Given the description of an element on the screen output the (x, y) to click on. 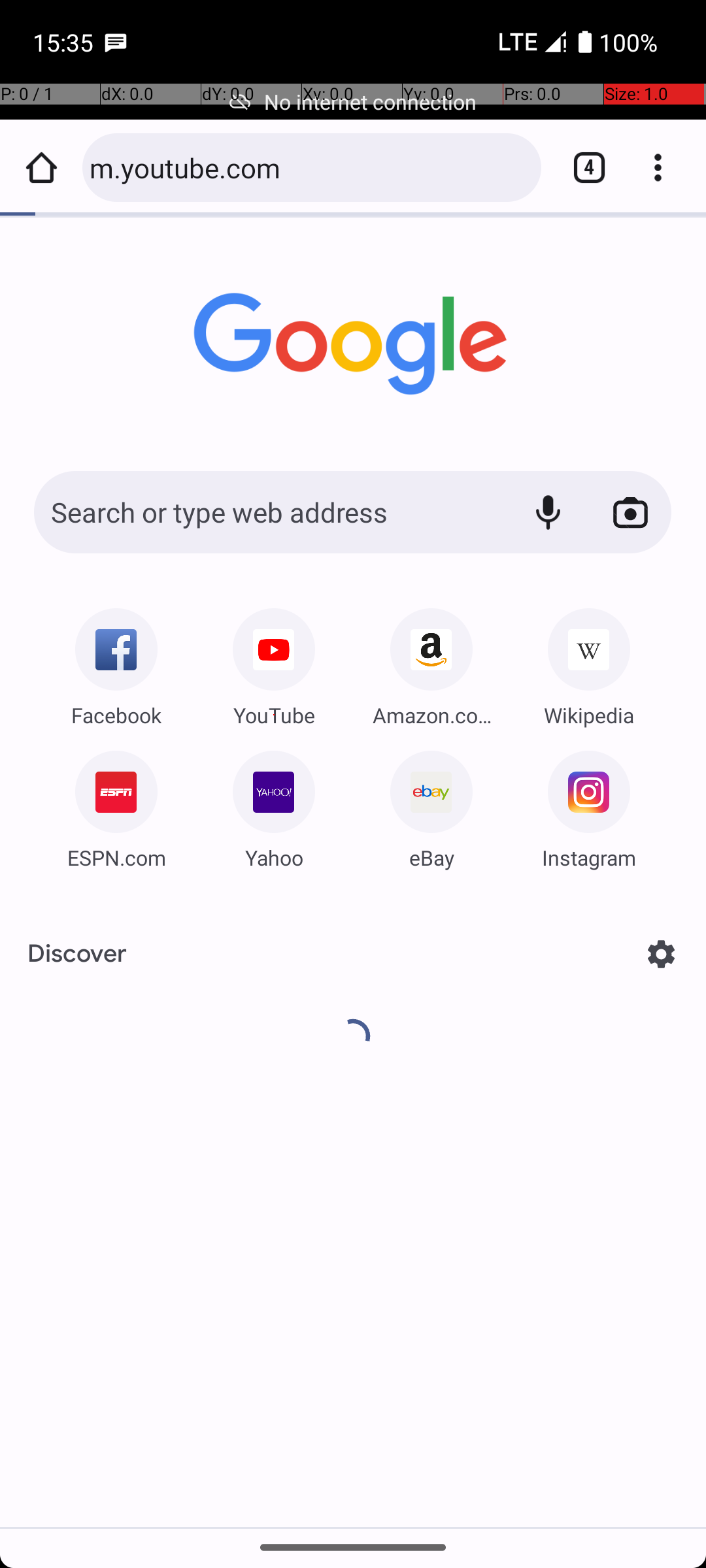
m.youtube.com Element type: android.widget.EditText (308, 167)
